Given the description of an element on the screen output the (x, y) to click on. 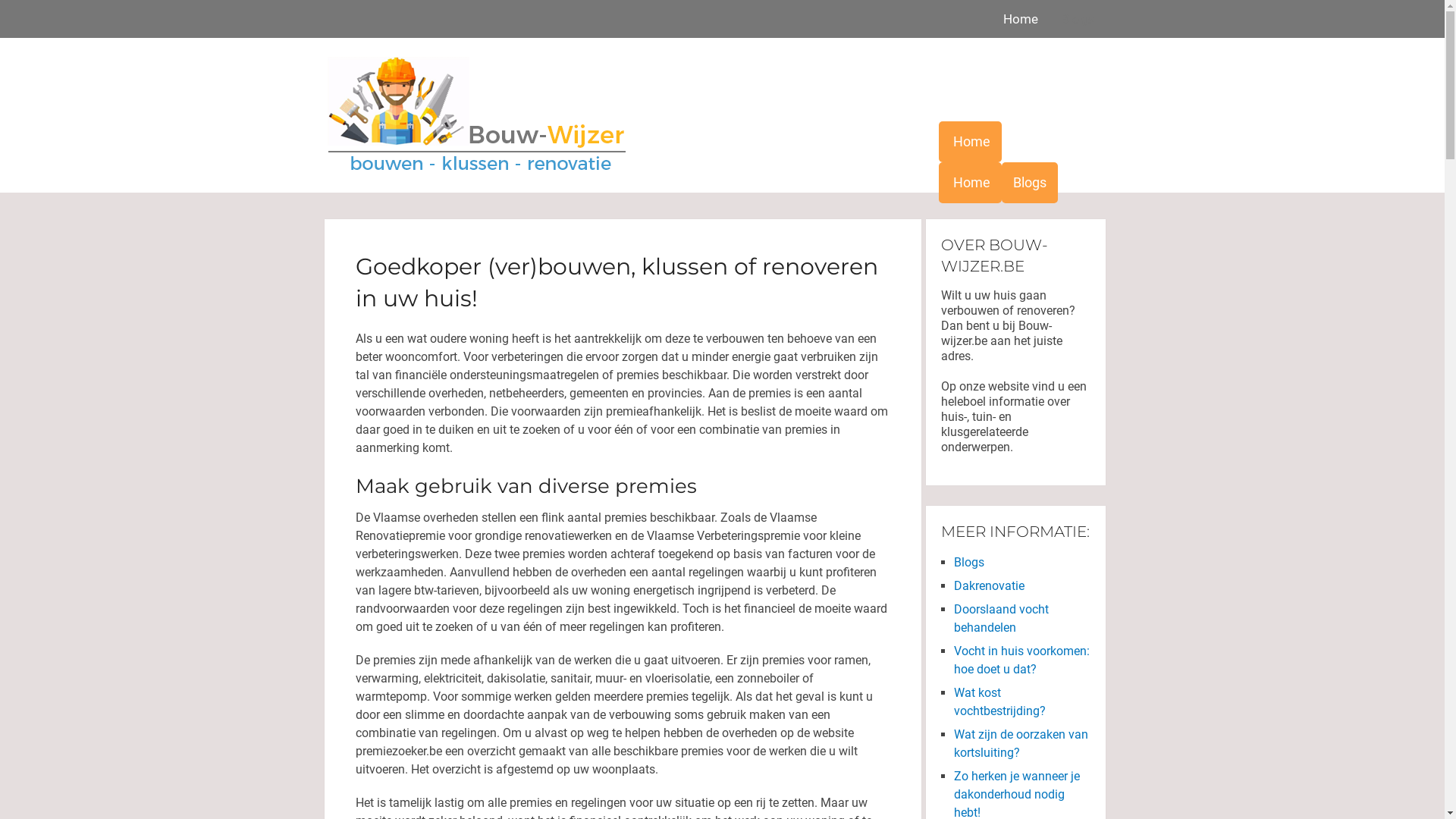
Home Element type: text (1023, 18)
Blogs Element type: text (968, 562)
Wat kost vochtbestrijding? Element type: text (999, 701)
Home Element type: text (969, 141)
Blogs Element type: text (1077, 18)
Doorslaand vocht behandelen Element type: text (1000, 618)
Home Element type: text (969, 182)
Wat zijn de oorzaken van kortsluiting? Element type: text (1020, 743)
Blogs Element type: text (1029, 182)
Dakrenovatie Element type: text (988, 585)
Vocht in huis voorkomen: hoe doet u dat? Element type: text (1021, 659)
